Given the description of an element on the screen output the (x, y) to click on. 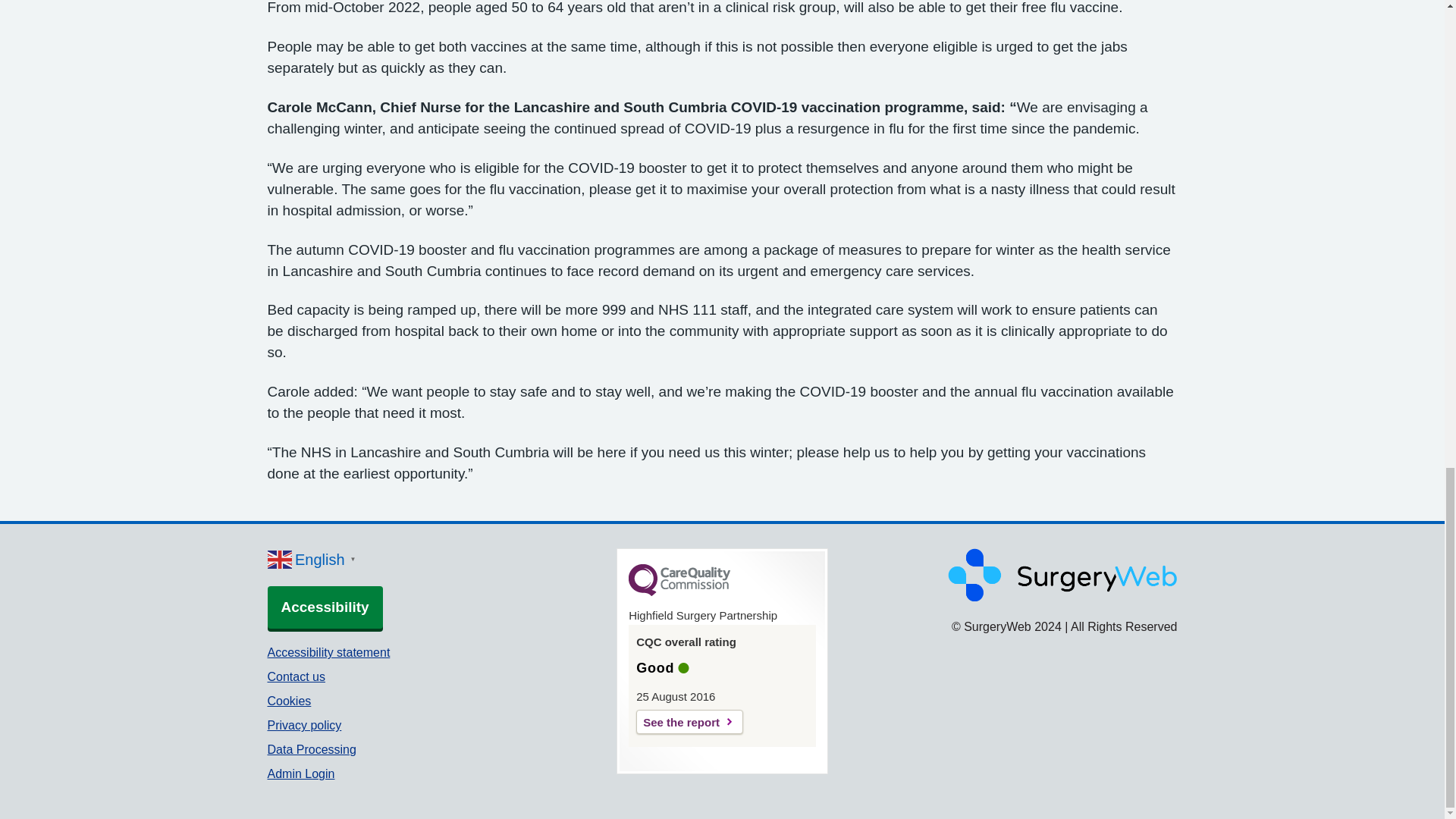
CQC Logo (679, 592)
